Given the description of an element on the screen output the (x, y) to click on. 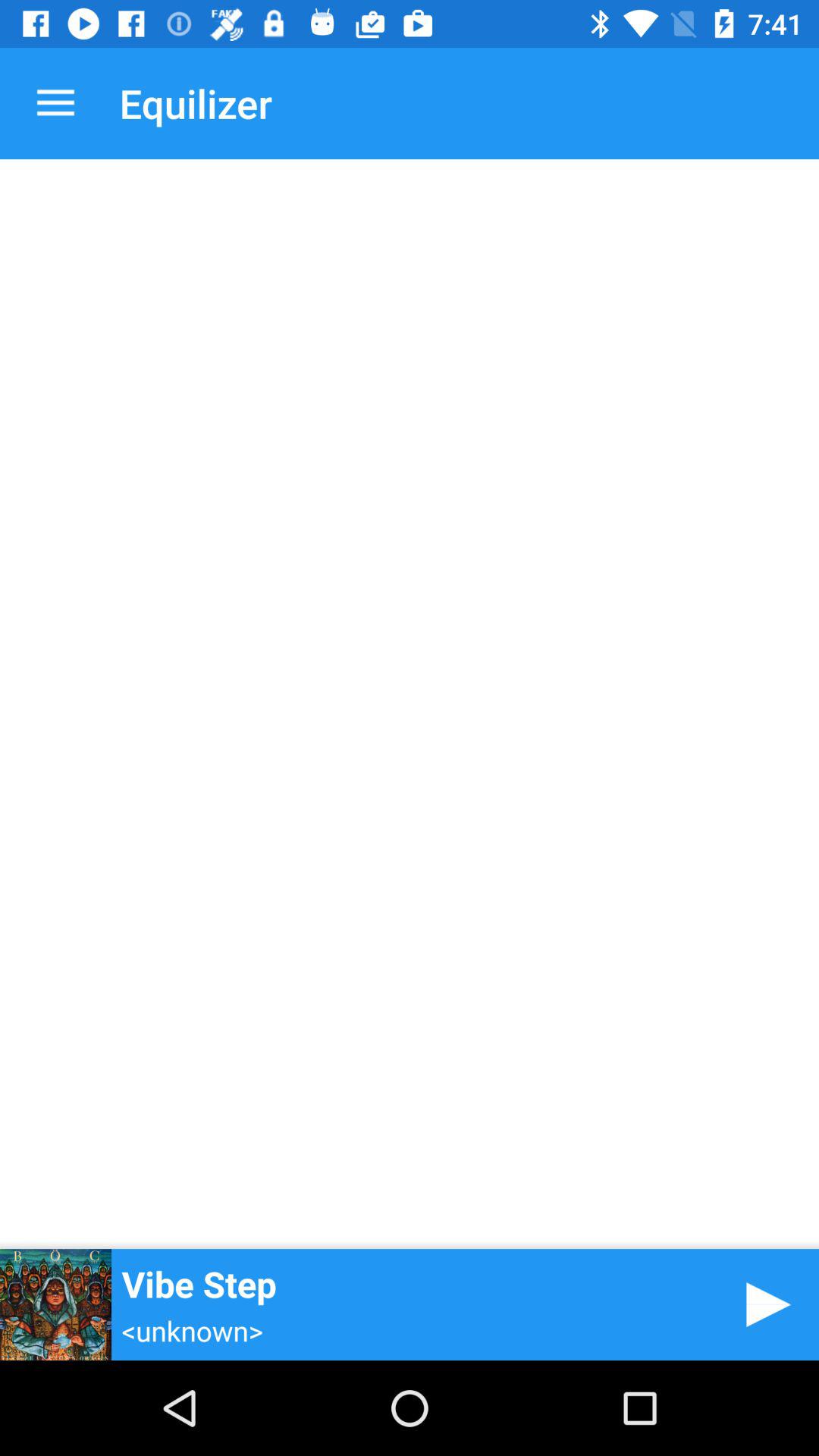
open item to the left of the equilizer app (55, 103)
